Given the description of an element on the screen output the (x, y) to click on. 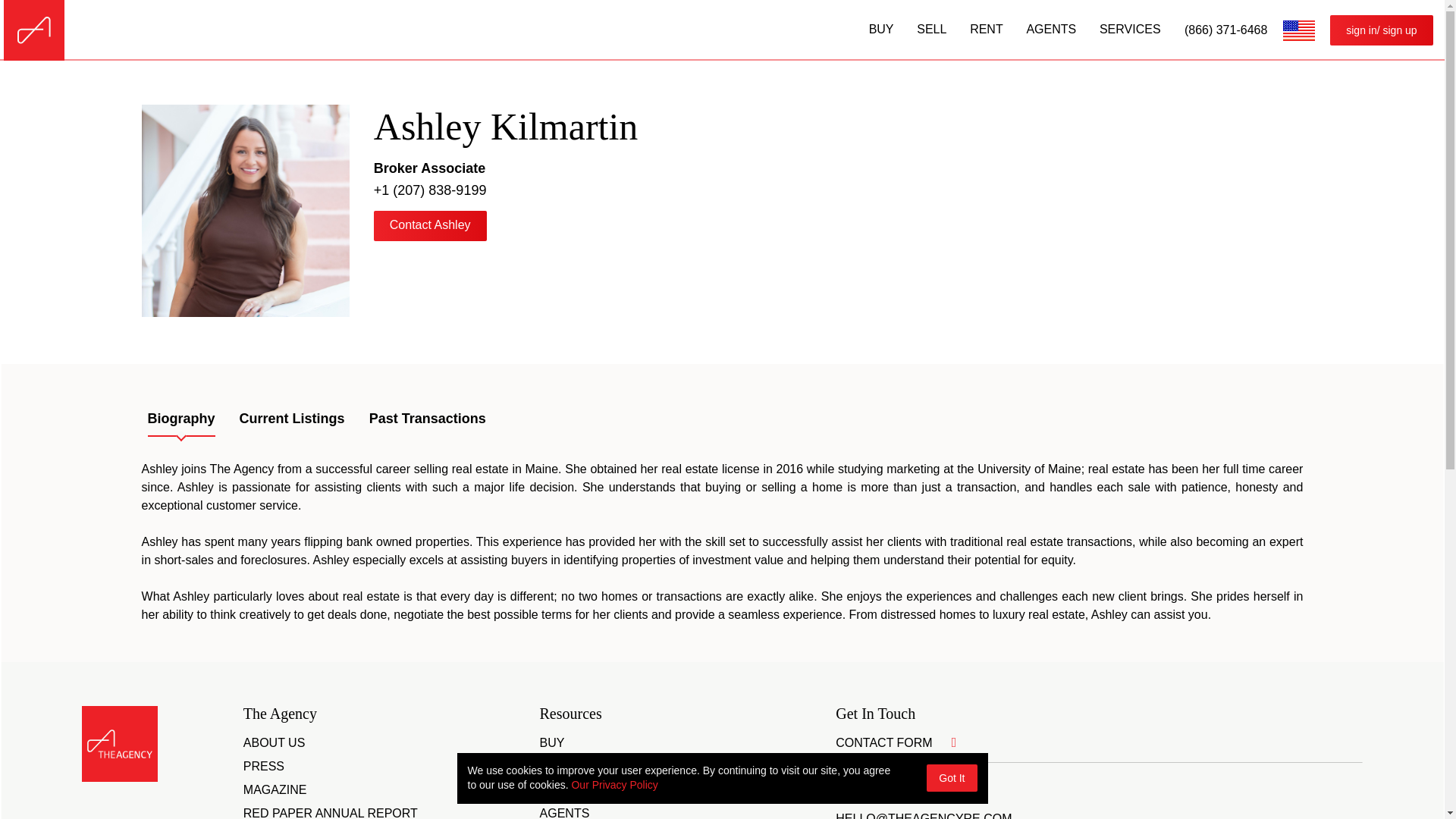
RED PAPER ANNUAL REPORT (330, 812)
RENT (986, 28)
AGENTS (1050, 28)
RENT (556, 789)
MAGAZINE (275, 789)
Home (34, 30)
BUY (881, 28)
ABOUT US (274, 743)
SERVICES (1129, 28)
SELL (554, 766)
AGENTS (564, 812)
SELL (931, 28)
BUY (552, 743)
PRESS (263, 766)
